Given the description of an element on the screen output the (x, y) to click on. 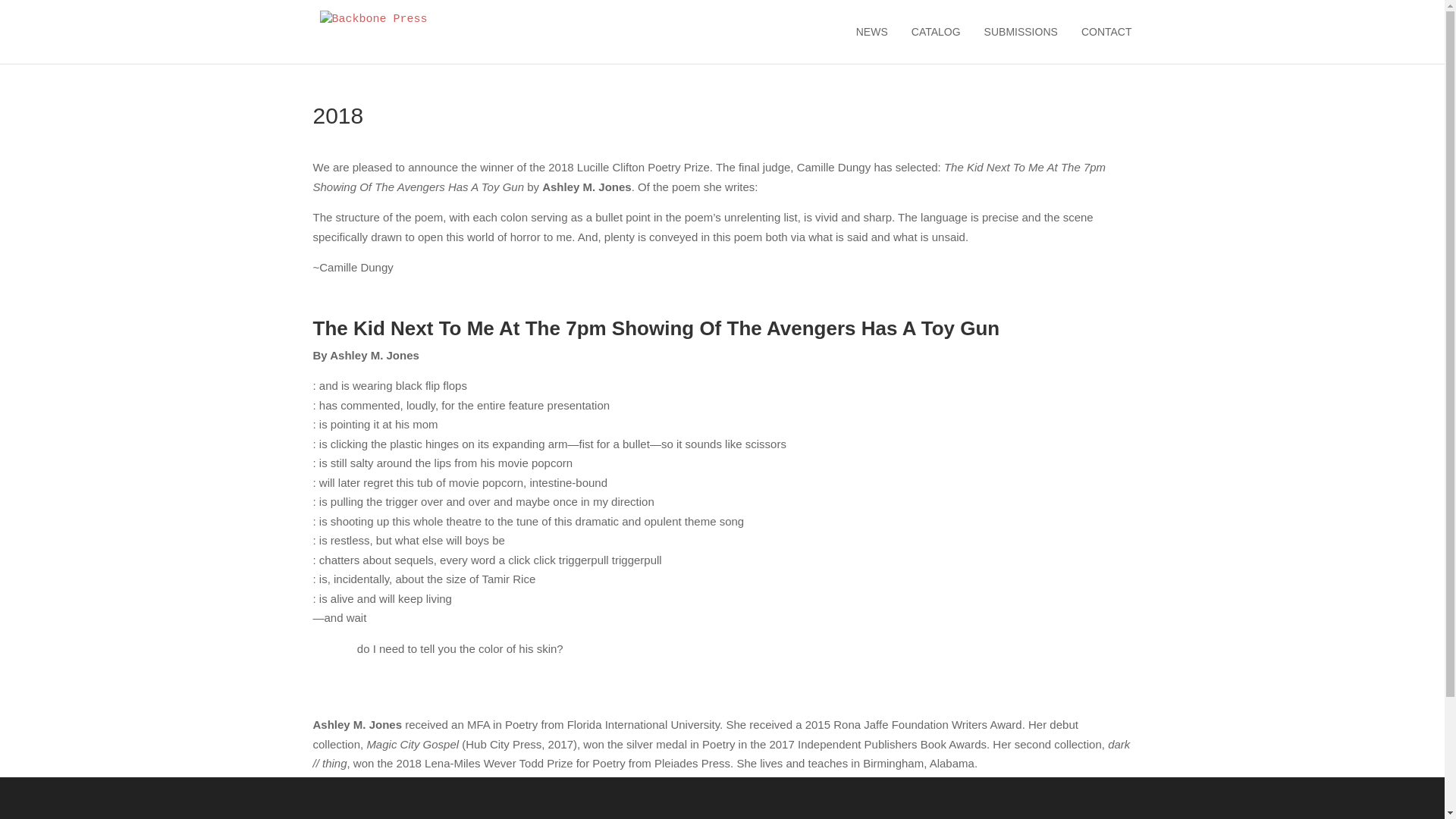
CATALOG (935, 44)
CONTACT (1106, 44)
SUBMISSIONS (1021, 44)
